Given the description of an element on the screen output the (x, y) to click on. 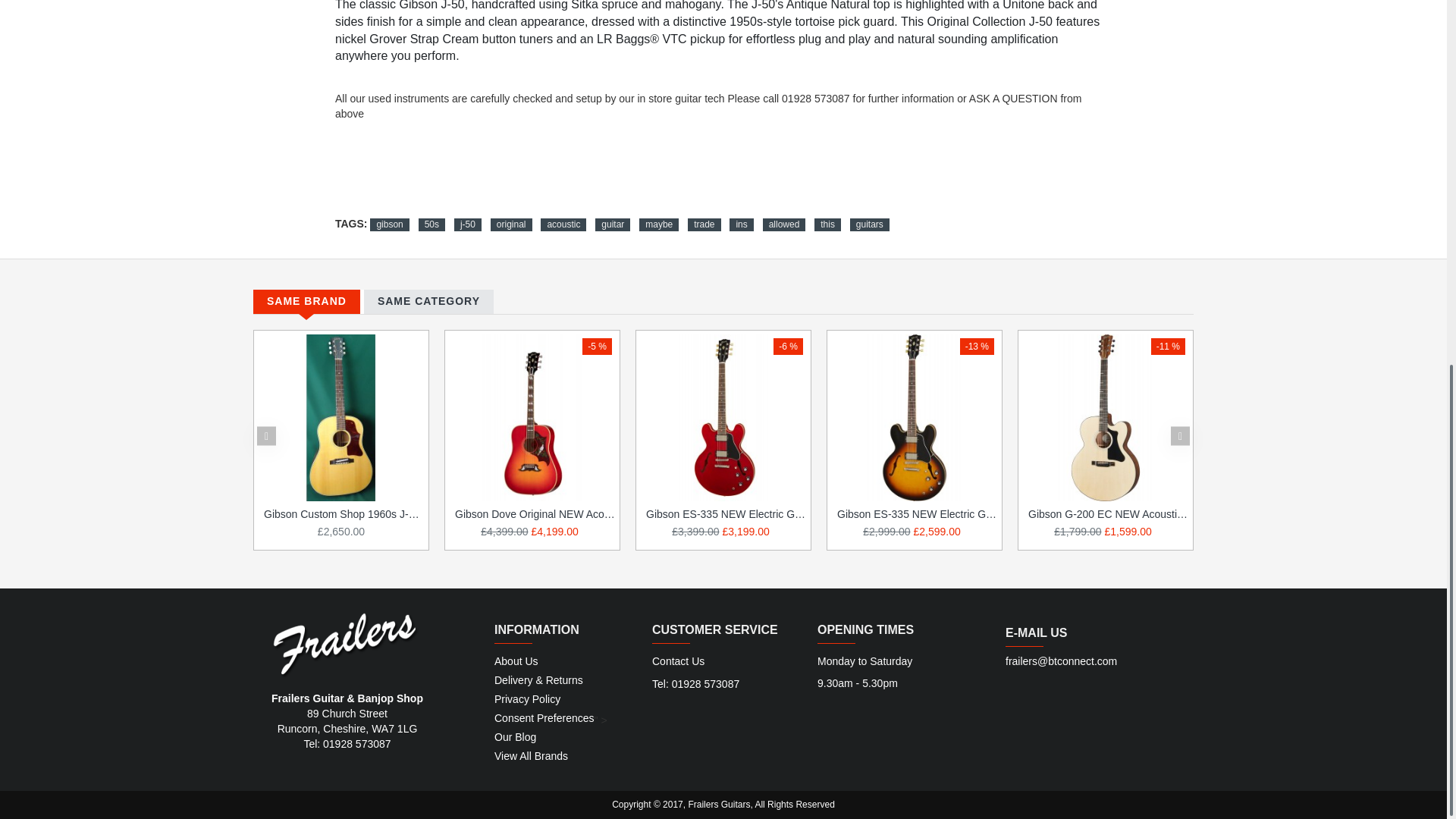
Gibson Custom Shop 1960s J-45 ADJ (341, 417)
Gibson Dove Original NEW  Acoustic Guitar. (531, 417)
